Given the description of an element on the screen output the (x, y) to click on. 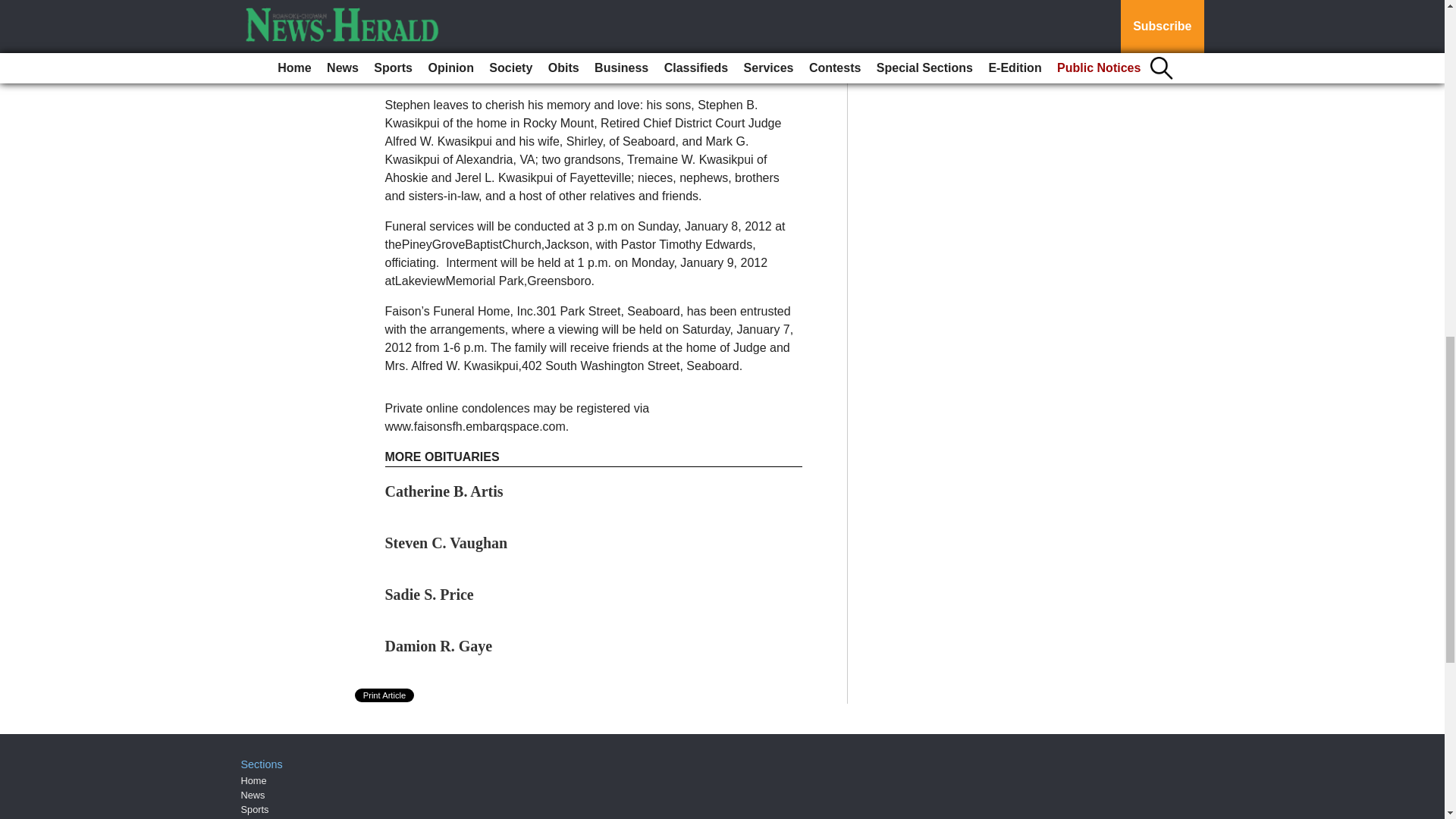
Damion R. Gaye (439, 646)
Steven C. Vaughan (446, 542)
Sadie S. Price (429, 594)
Sadie S. Price (429, 594)
Catherine B. Artis (444, 491)
Steven C. Vaughan (446, 542)
Damion R. Gaye (439, 646)
Catherine B. Artis (444, 491)
Print Article (384, 694)
